Given the description of an element on the screen output the (x, y) to click on. 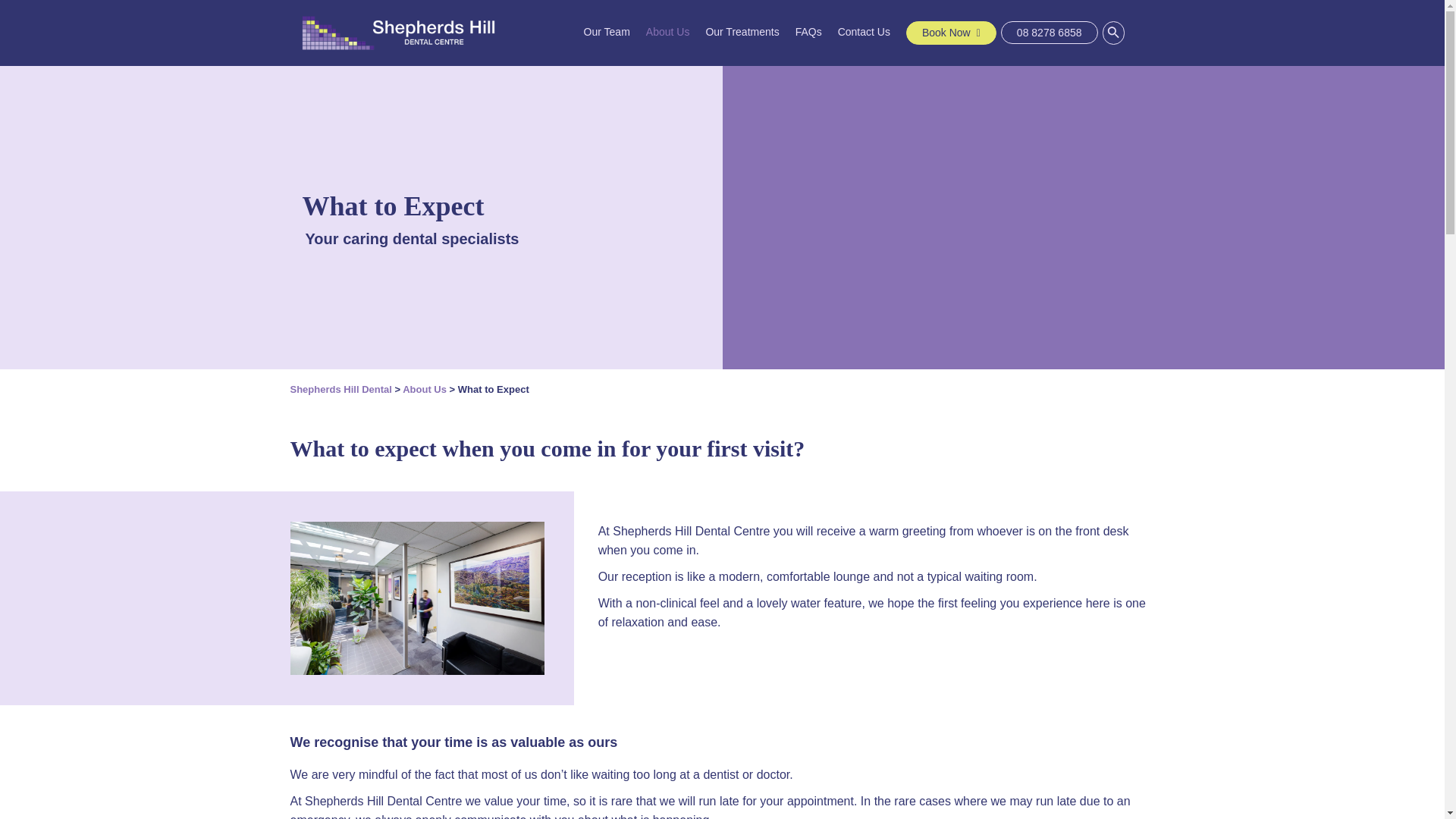
Go to About Us. (424, 389)
Our Treatments (741, 31)
Shepherds Hill Dental Interior 2 (416, 597)
Go to Shepherds Hill Dental. (340, 389)
About Us (668, 31)
Our Team (606, 31)
